Given the description of an element on the screen output the (x, y) to click on. 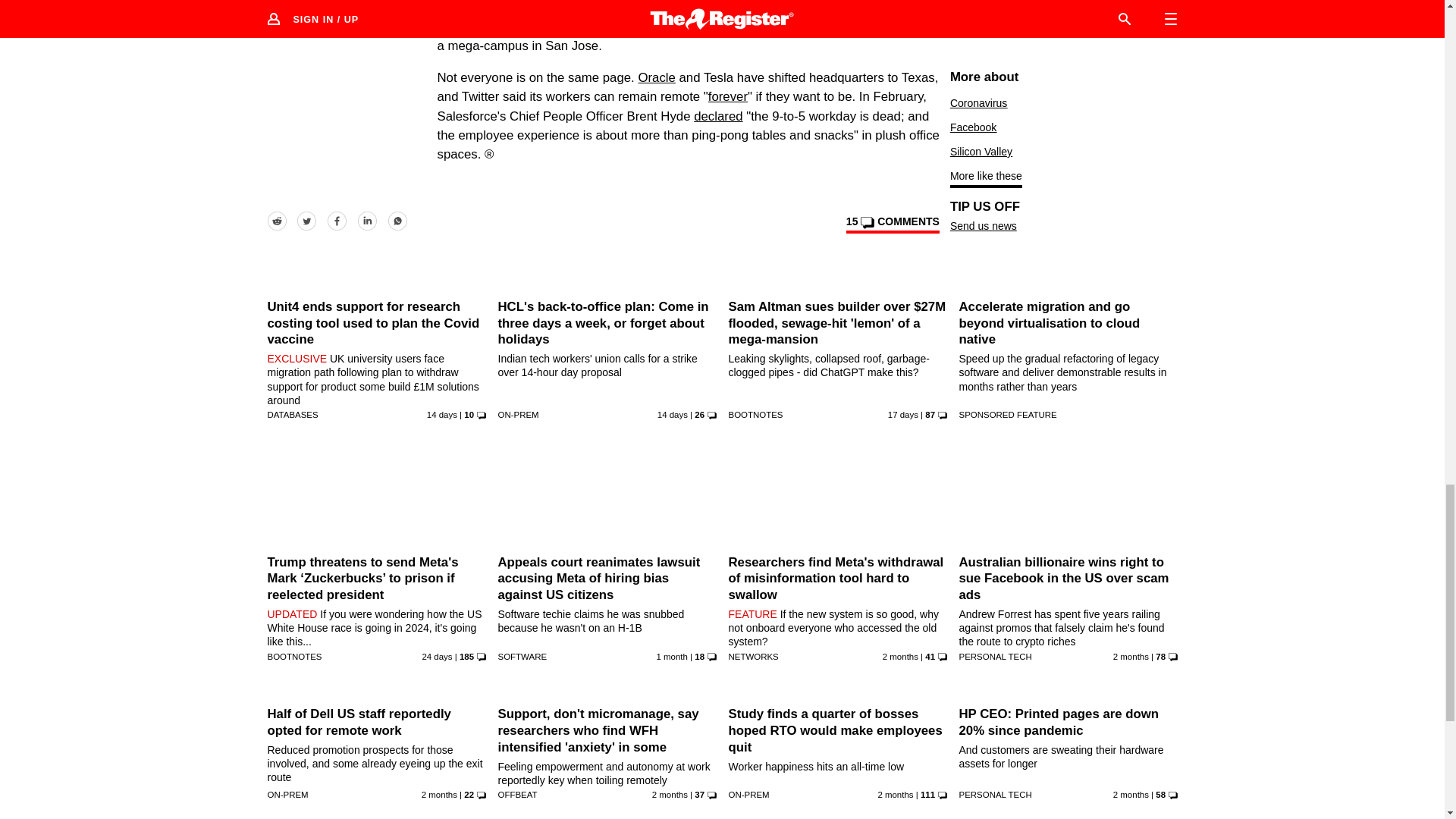
11 Jul 2024 19:43 (436, 655)
27 Jun 2024 21:5 (671, 655)
22 Jul 2024 10:34 (441, 414)
View comments on this article (892, 224)
20 Jun 2024 3:30 (1130, 655)
18 Jun 2024 14:2 (900, 655)
22 Jul 2024 6:32 (672, 414)
20 Jun 2024 14:26 (439, 794)
18 Jul 2024 19:56 (903, 414)
11 Jun 2024 8:30 (669, 794)
